Given the description of an element on the screen output the (x, y) to click on. 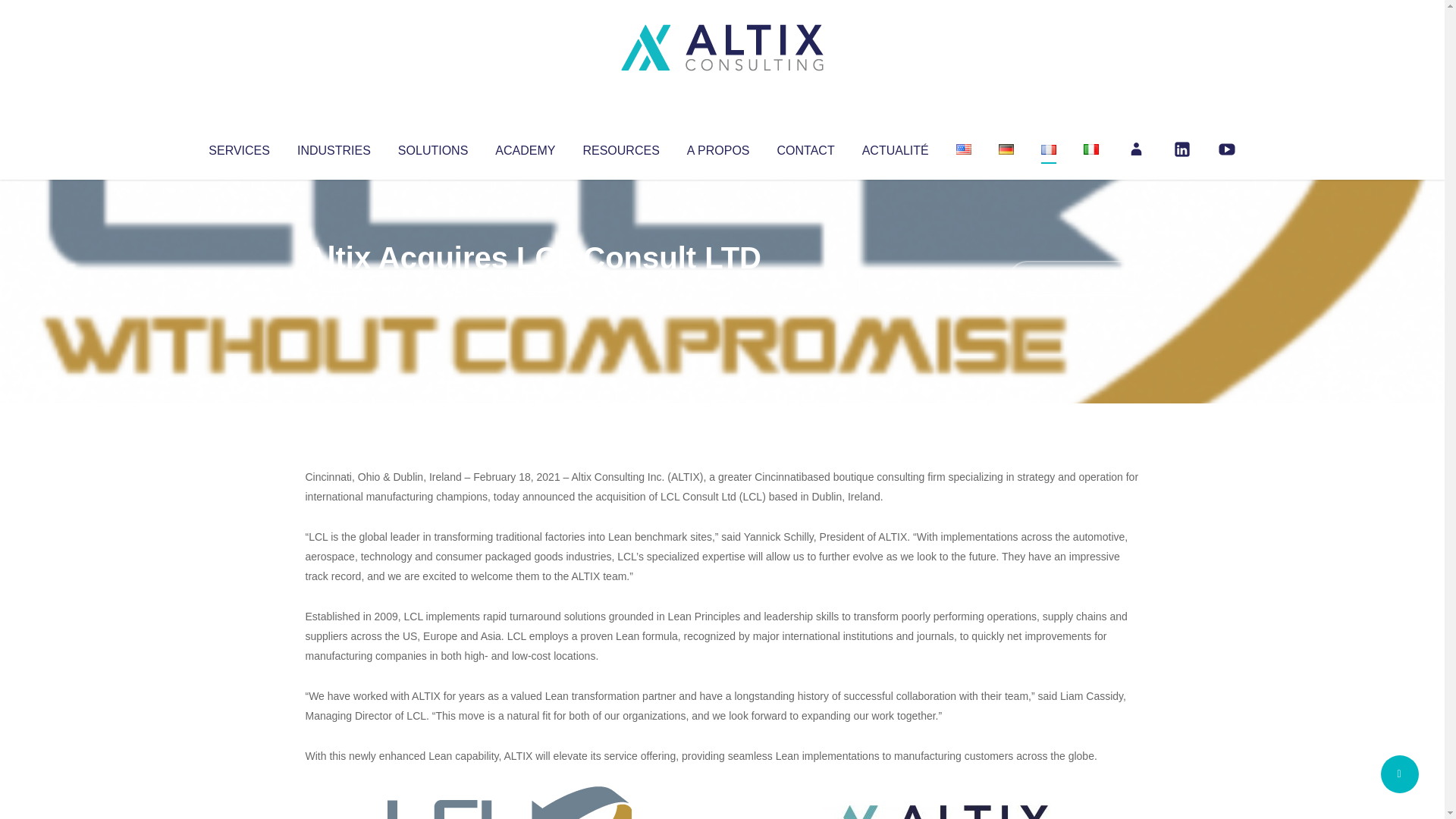
Altix (333, 287)
RESOURCES (620, 146)
Articles par Altix (333, 287)
Uncategorized (530, 287)
SERVICES (238, 146)
ACADEMY (524, 146)
A PROPOS (718, 146)
No Comments (1073, 278)
INDUSTRIES (334, 146)
SOLUTIONS (432, 146)
